Given the description of an element on the screen output the (x, y) to click on. 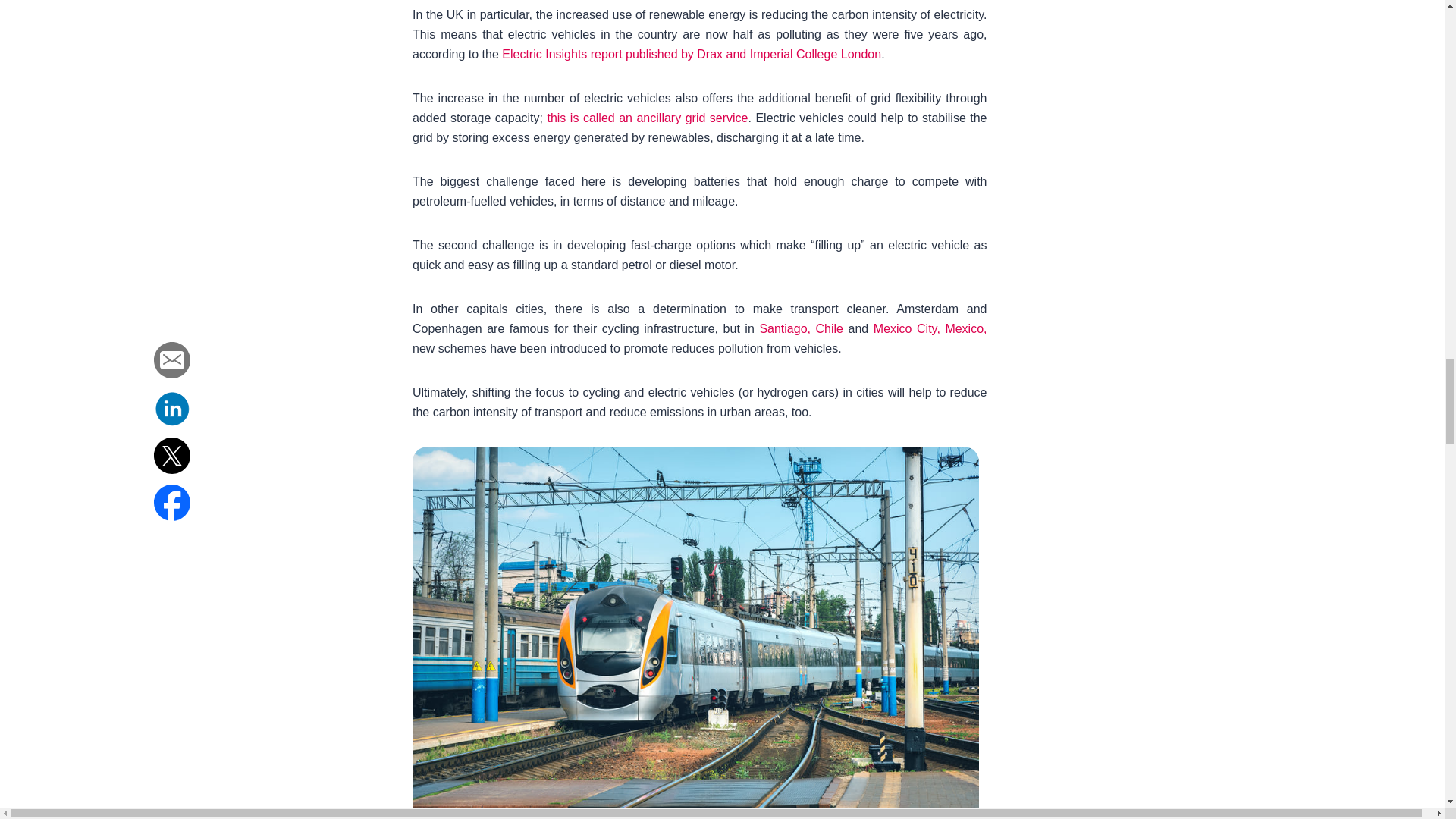
Mexico City, Mexico, (930, 328)
Santiago, Chile (800, 328)
this is called an ancillary grid service (645, 117)
